Given the description of an element on the screen output the (x, y) to click on. 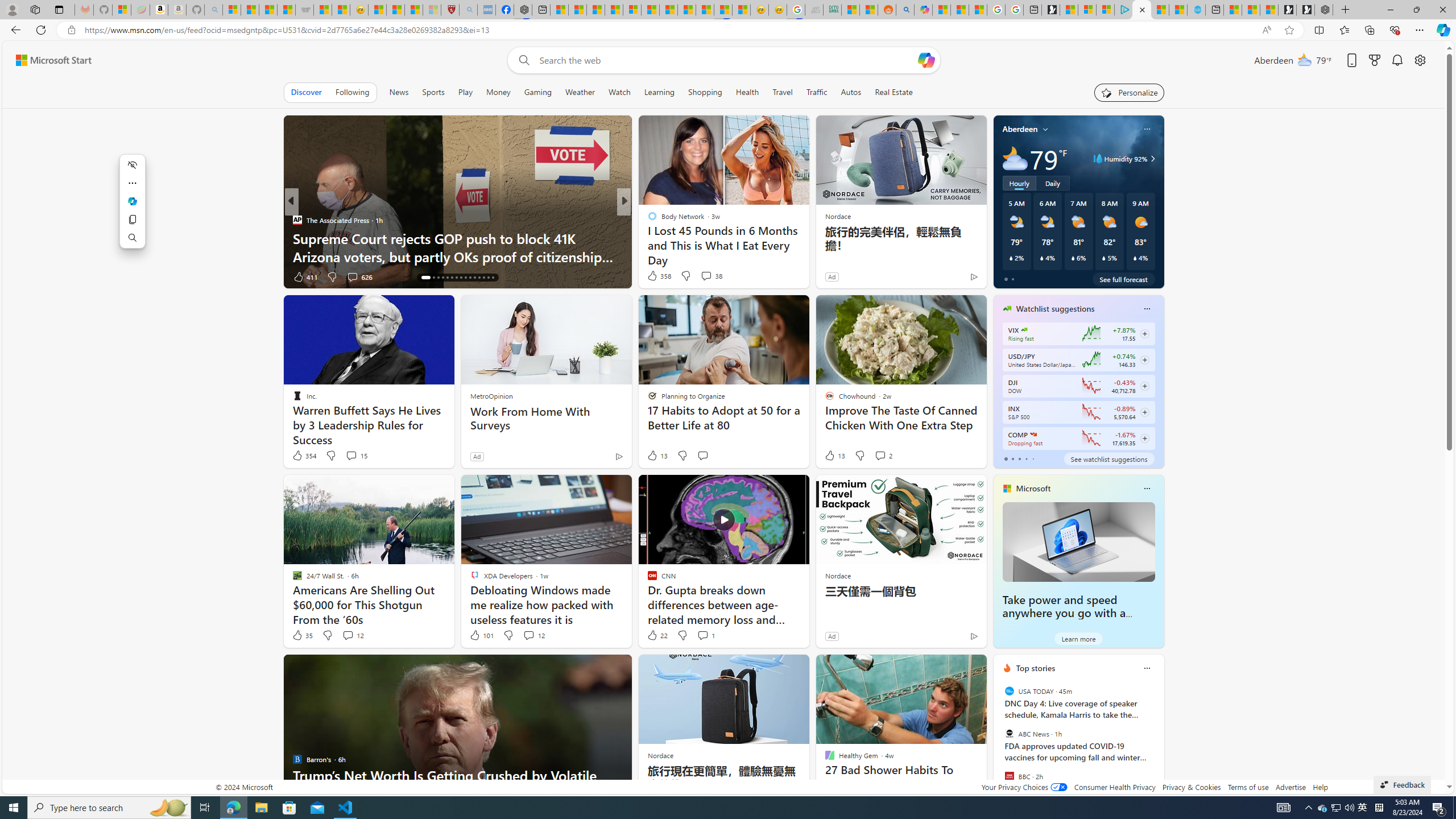
Autos (851, 92)
View comments 23 Comment (707, 276)
Top stories (1035, 668)
View comments 12 Comment (533, 634)
Mini menu on text selection (132, 207)
HuffPost UK (647, 219)
Fix Boat Bliss (807, 256)
AutomationID: tab-25 (470, 277)
